Given the description of an element on the screen output the (x, y) to click on. 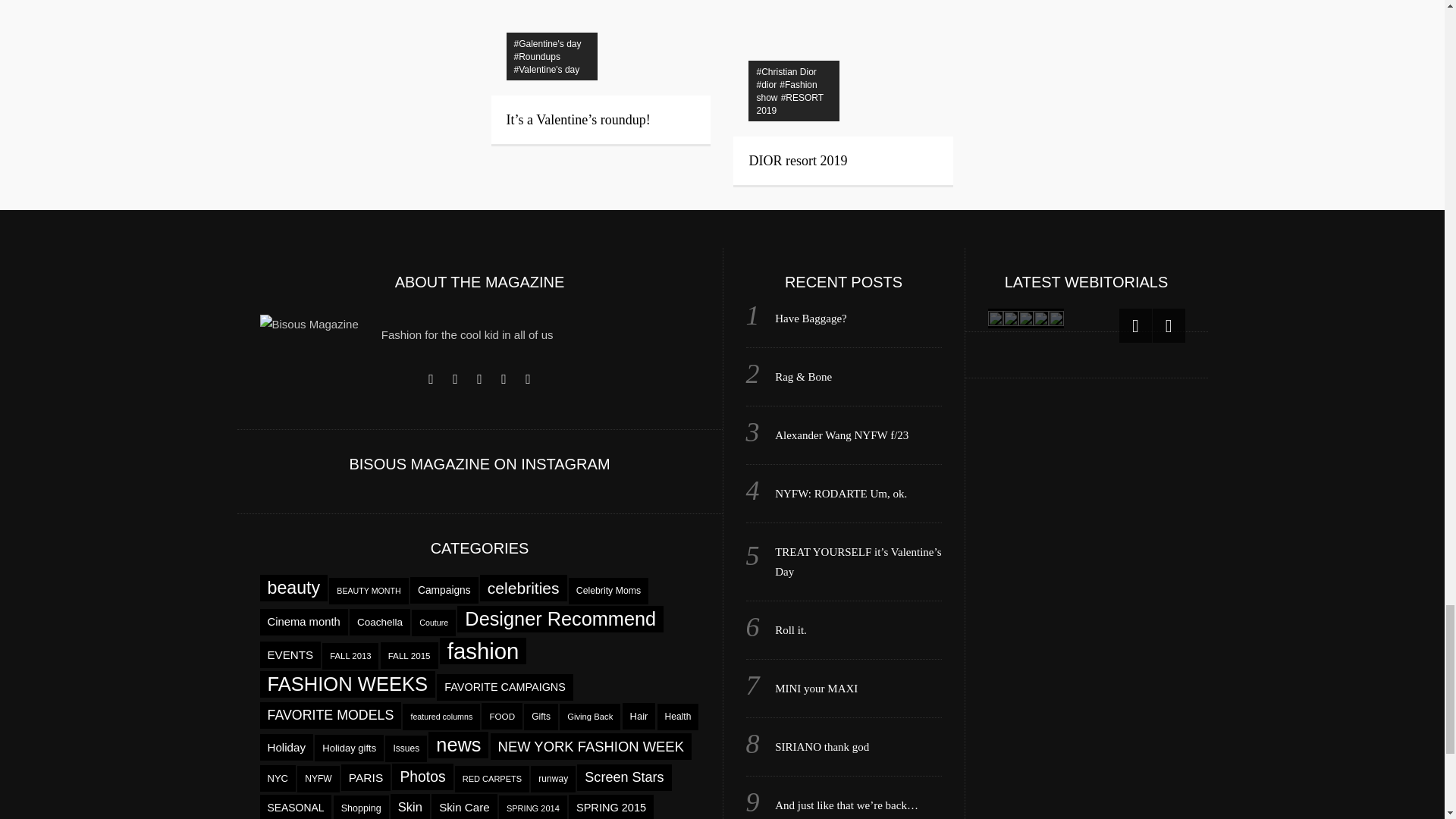
95 topics (523, 587)
207 topics (560, 619)
31 topics (289, 654)
29 topics (303, 622)
141 topics (293, 587)
18 topics (608, 591)
24 topics (444, 590)
13 topics (368, 591)
23 topics (379, 622)
13 topics (433, 622)
